Given the description of an element on the screen output the (x, y) to click on. 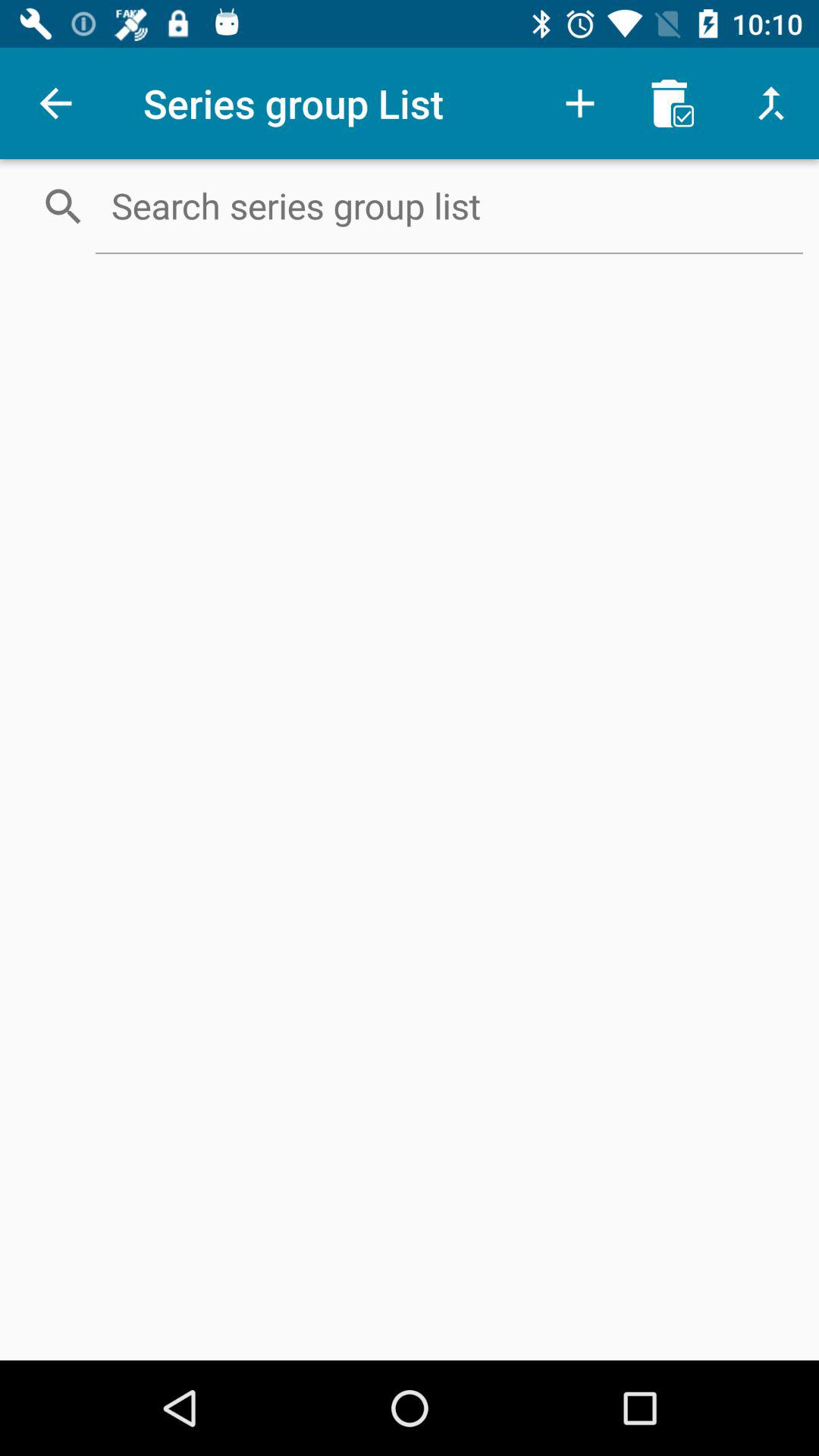
press item next to the series group list icon (55, 103)
